Given the description of an element on the screen output the (x, y) to click on. 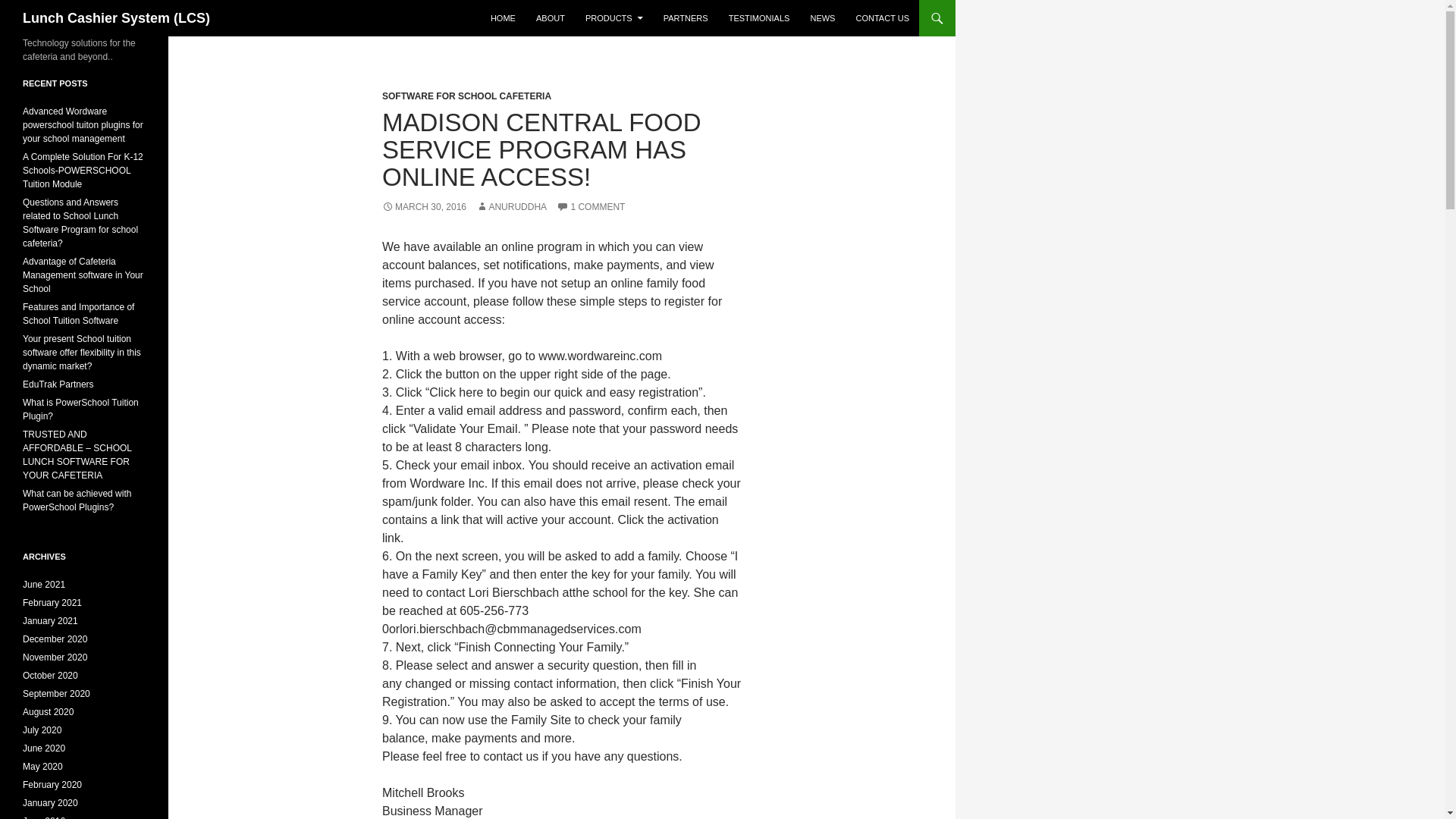
1 COMMENT (590, 206)
June 2021 (44, 584)
June 2020 (44, 747)
PRODUCTS (614, 18)
What is PowerSchool Tuition Plugin? (80, 409)
January 2021 (50, 620)
August 2020 (48, 711)
